Given the description of an element on the screen output the (x, y) to click on. 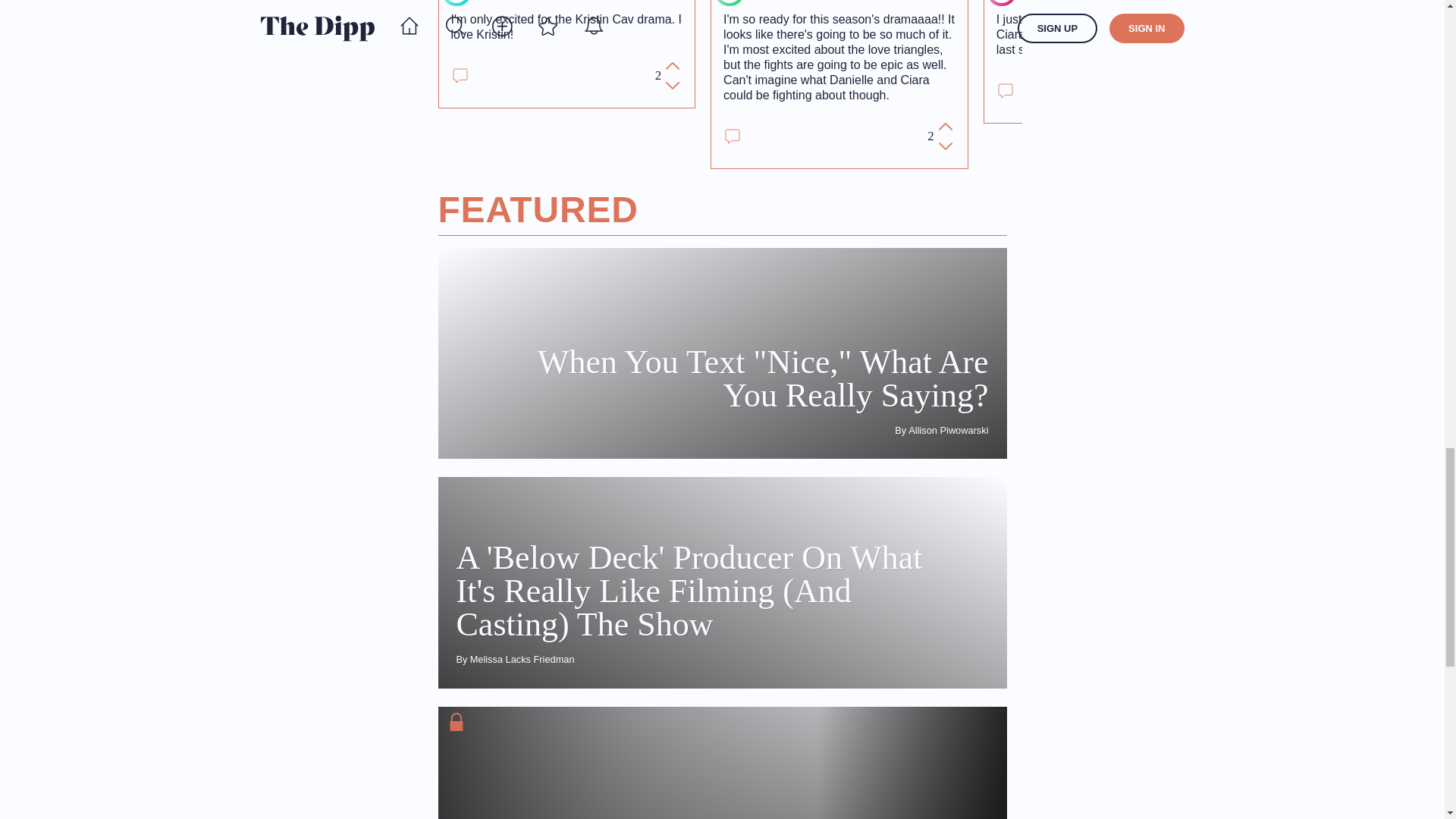
over 2 years ago (614, 2)
I (729, 2)
R (456, 2)
I'm only excited for the Kristin Cav drama. I love Kristin! (565, 27)
over 2 years ago (862, 2)
B (1001, 2)
ingaparkel (778, 2)
